Given the description of an element on the screen output the (x, y) to click on. 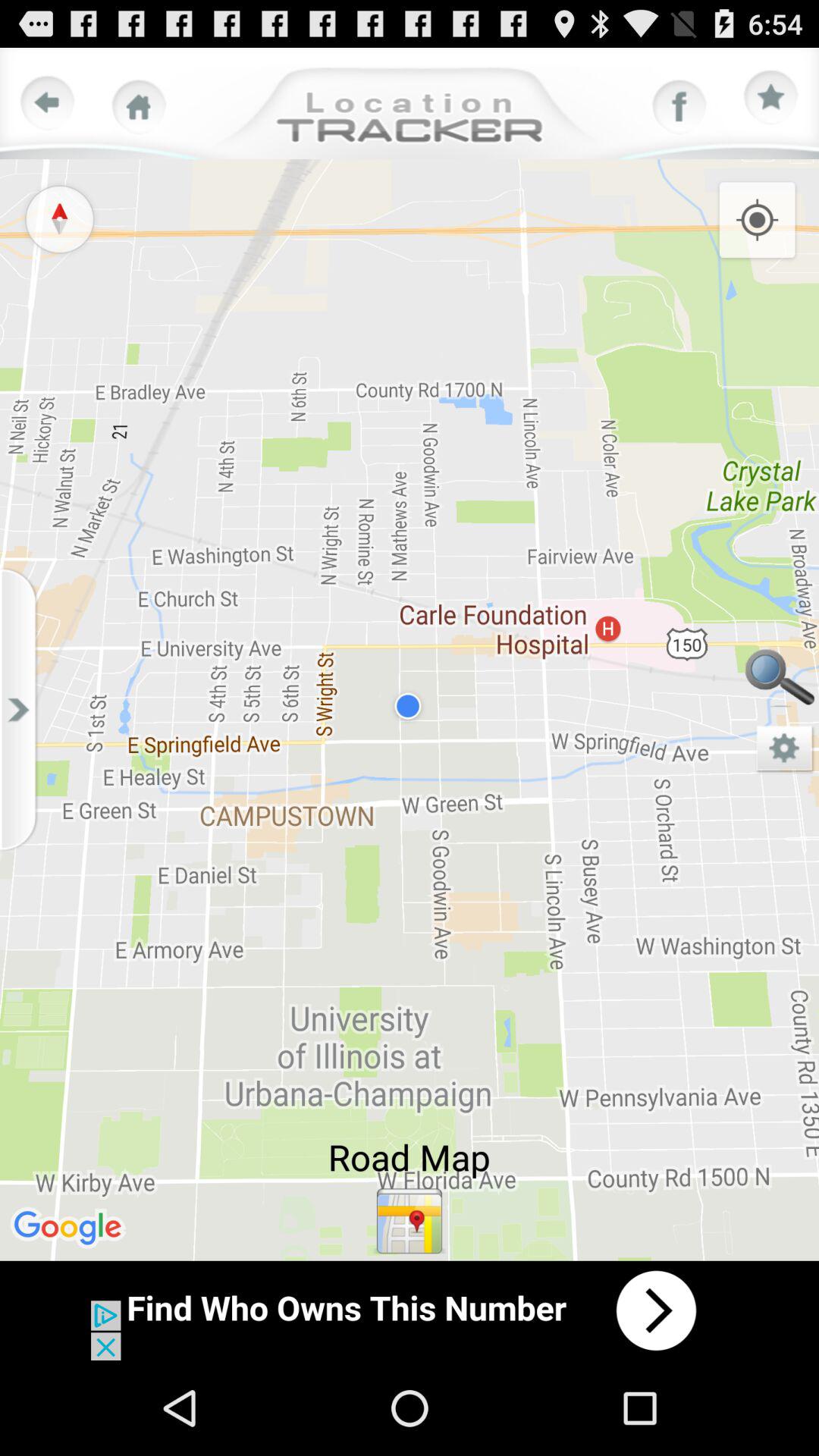
go to home screen (139, 107)
